Given the description of an element on the screen output the (x, y) to click on. 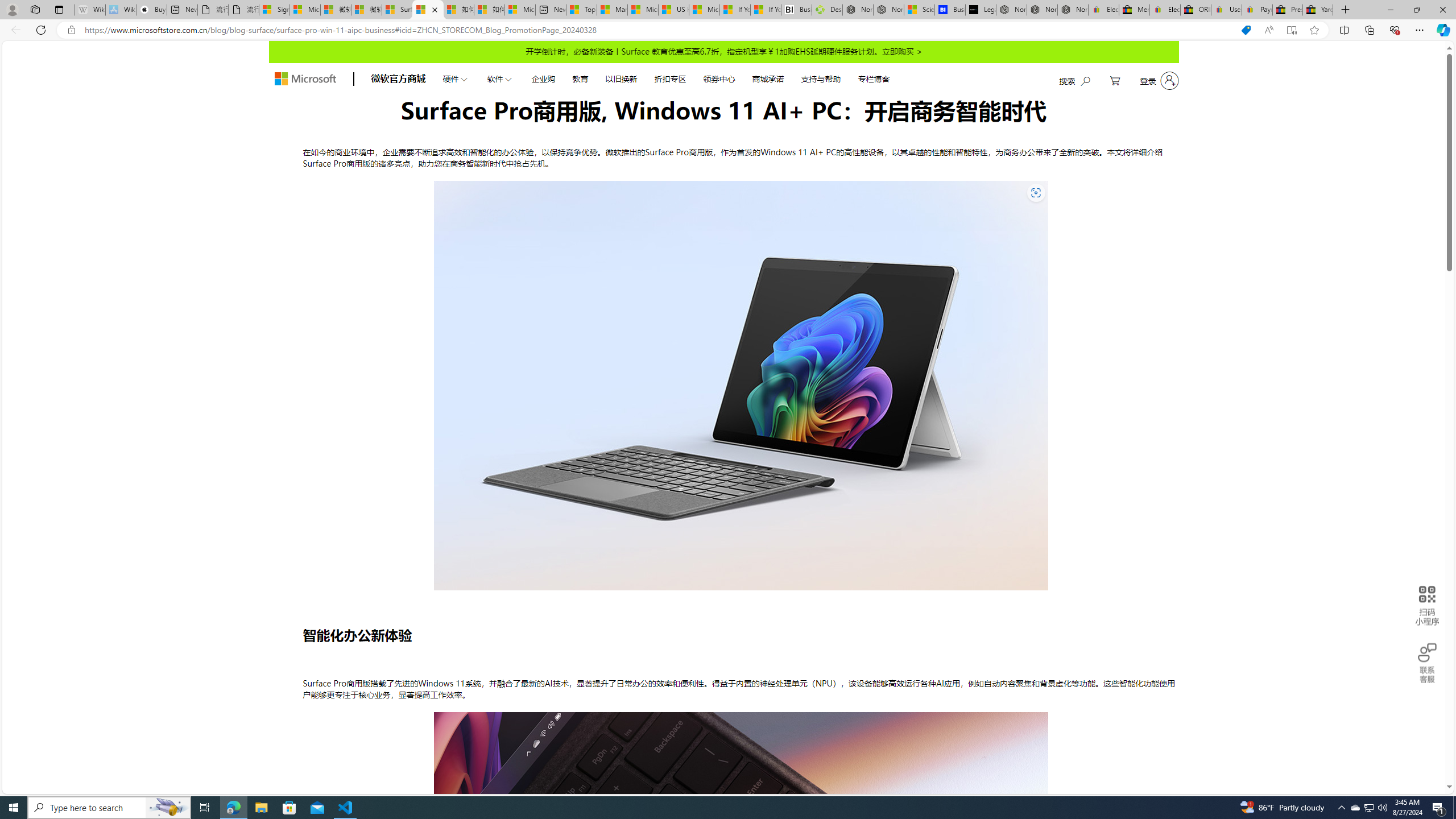
AutomationID: autoNav (665, 78)
User Privacy Notice | eBay (1226, 9)
